Given the description of an element on the screen output the (x, y) to click on. 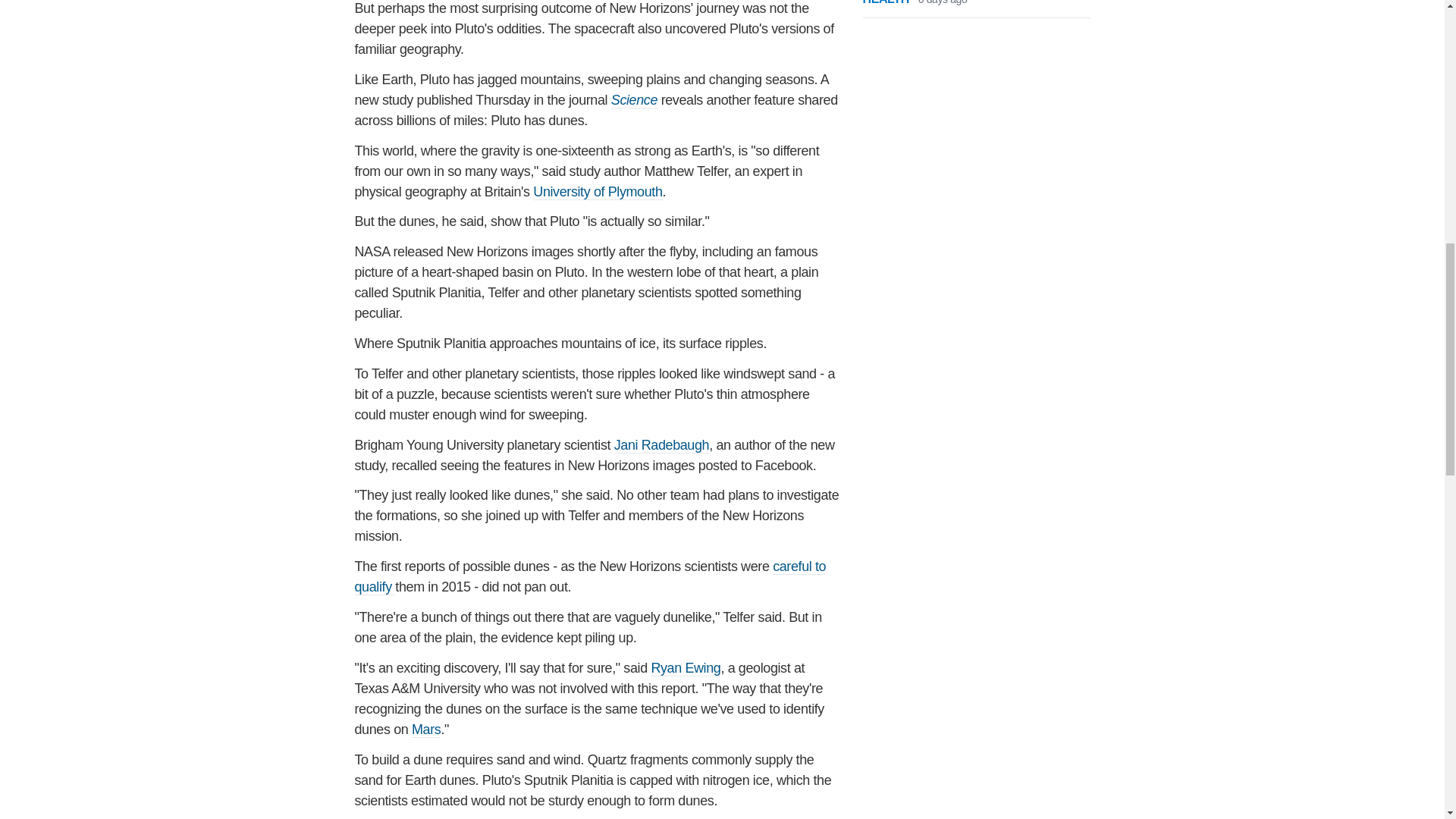
Mars (426, 729)
Jani Radebaugh (662, 445)
careful to qualify (591, 576)
University of Plymouth (597, 191)
Ryan Ewing (685, 668)
Science (634, 100)
